Given the description of an element on the screen output the (x, y) to click on. 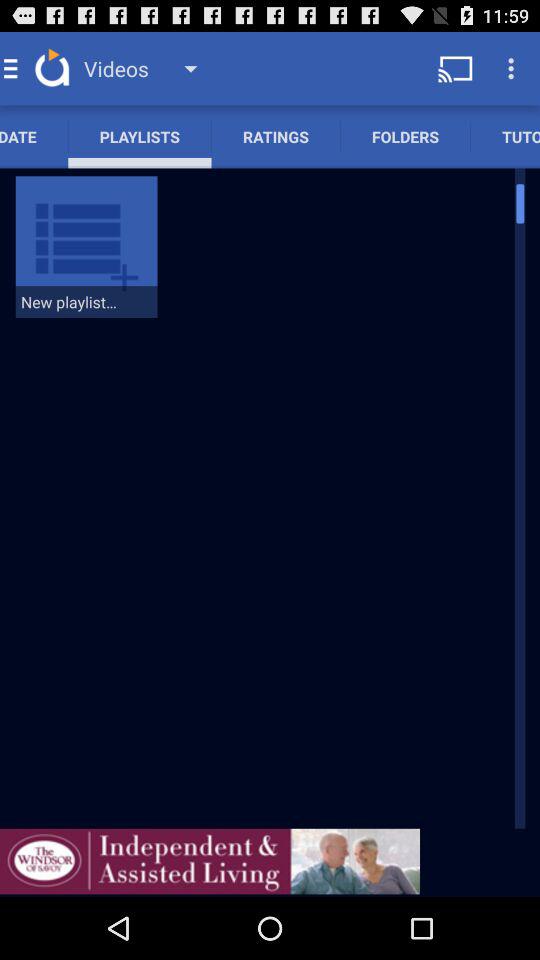
click on the button which is at the top right corner of the page (514, 68)
click on the option having the text folders (405, 136)
click the button videos on the web page (147, 68)
